Given the description of an element on the screen output the (x, y) to click on. 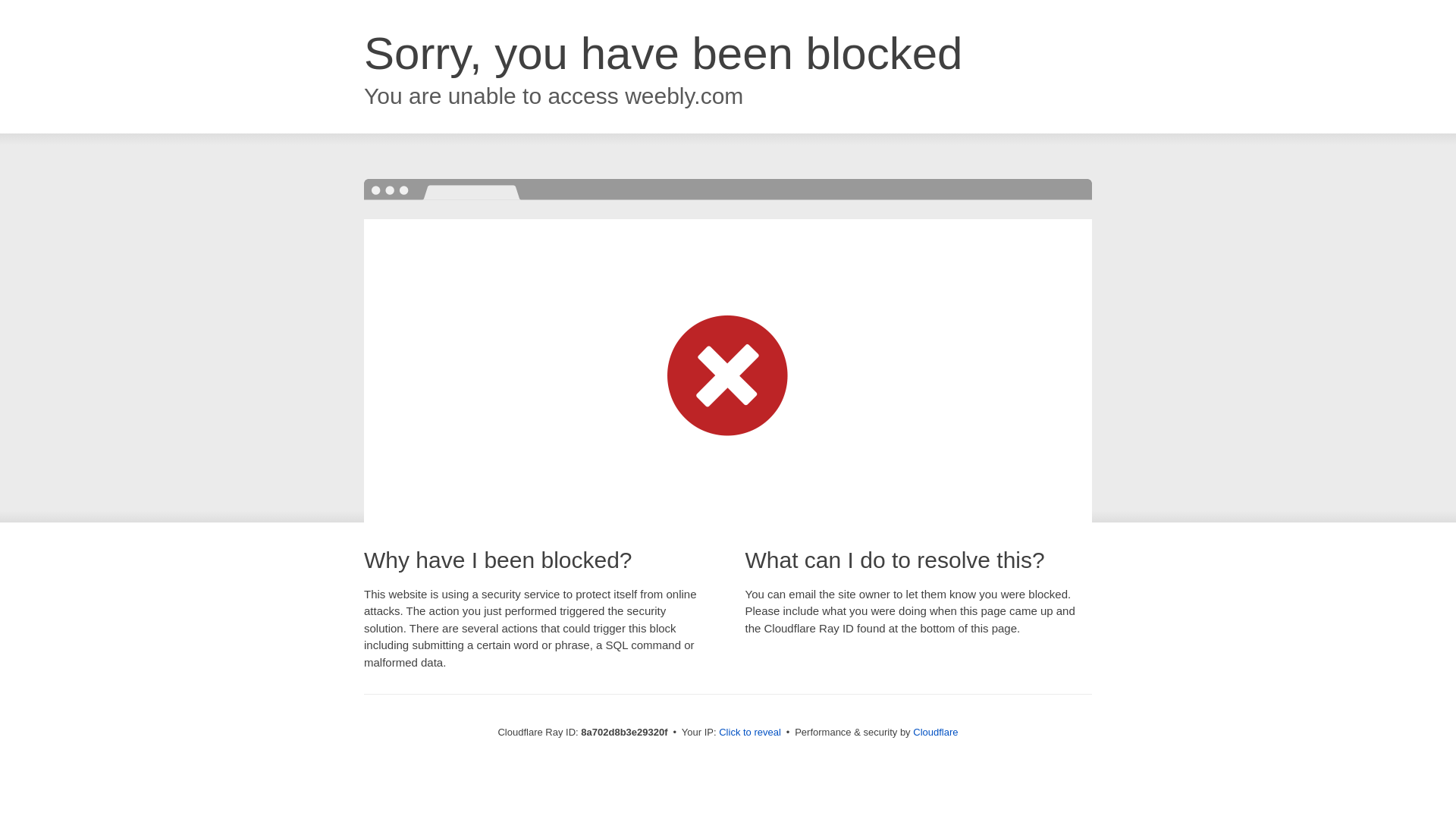
Click to reveal (749, 732)
Cloudflare (935, 731)
